Given the description of an element on the screen output the (x, y) to click on. 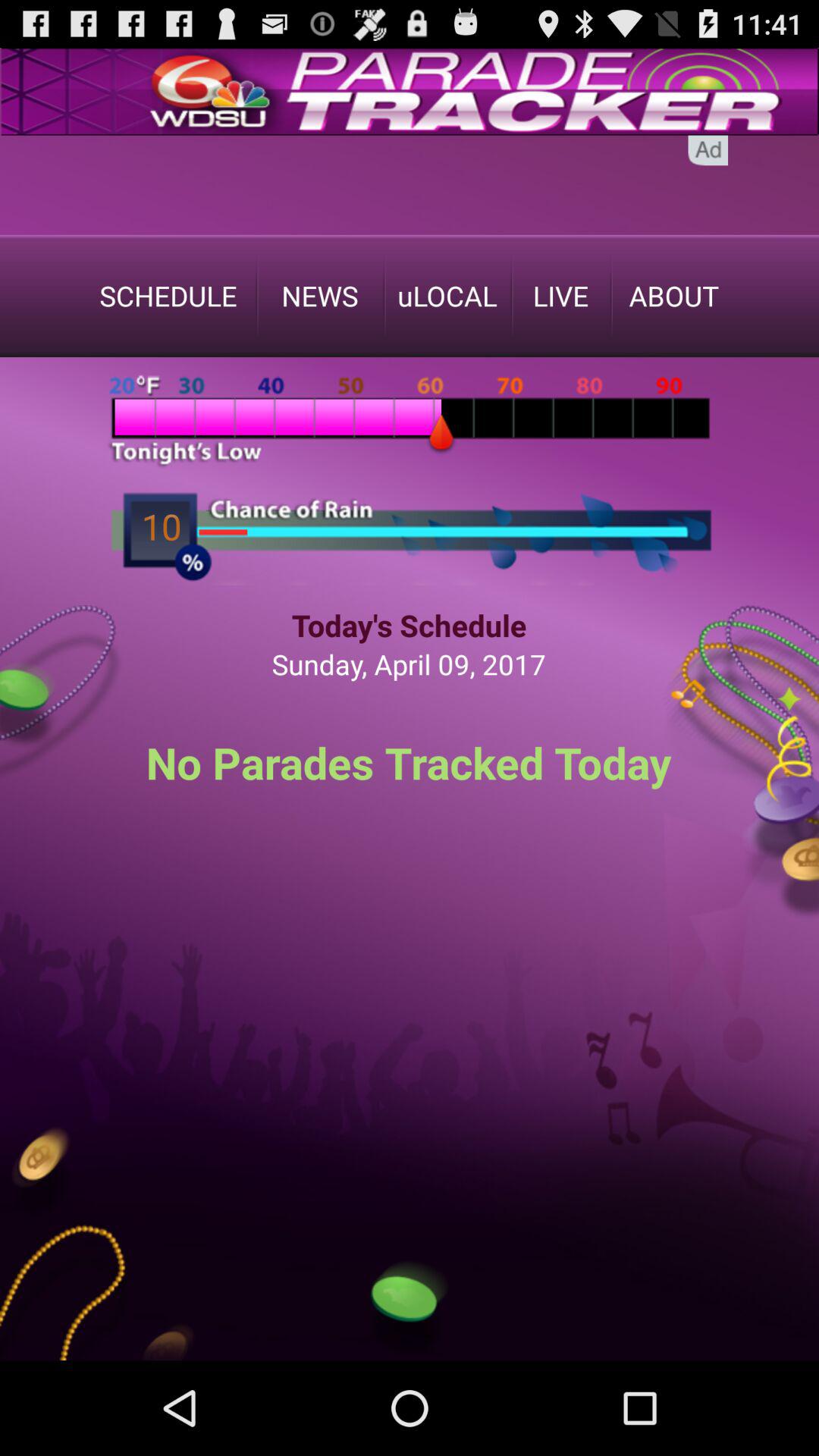
advertisement (409, 184)
